Given the description of an element on the screen output the (x, y) to click on. 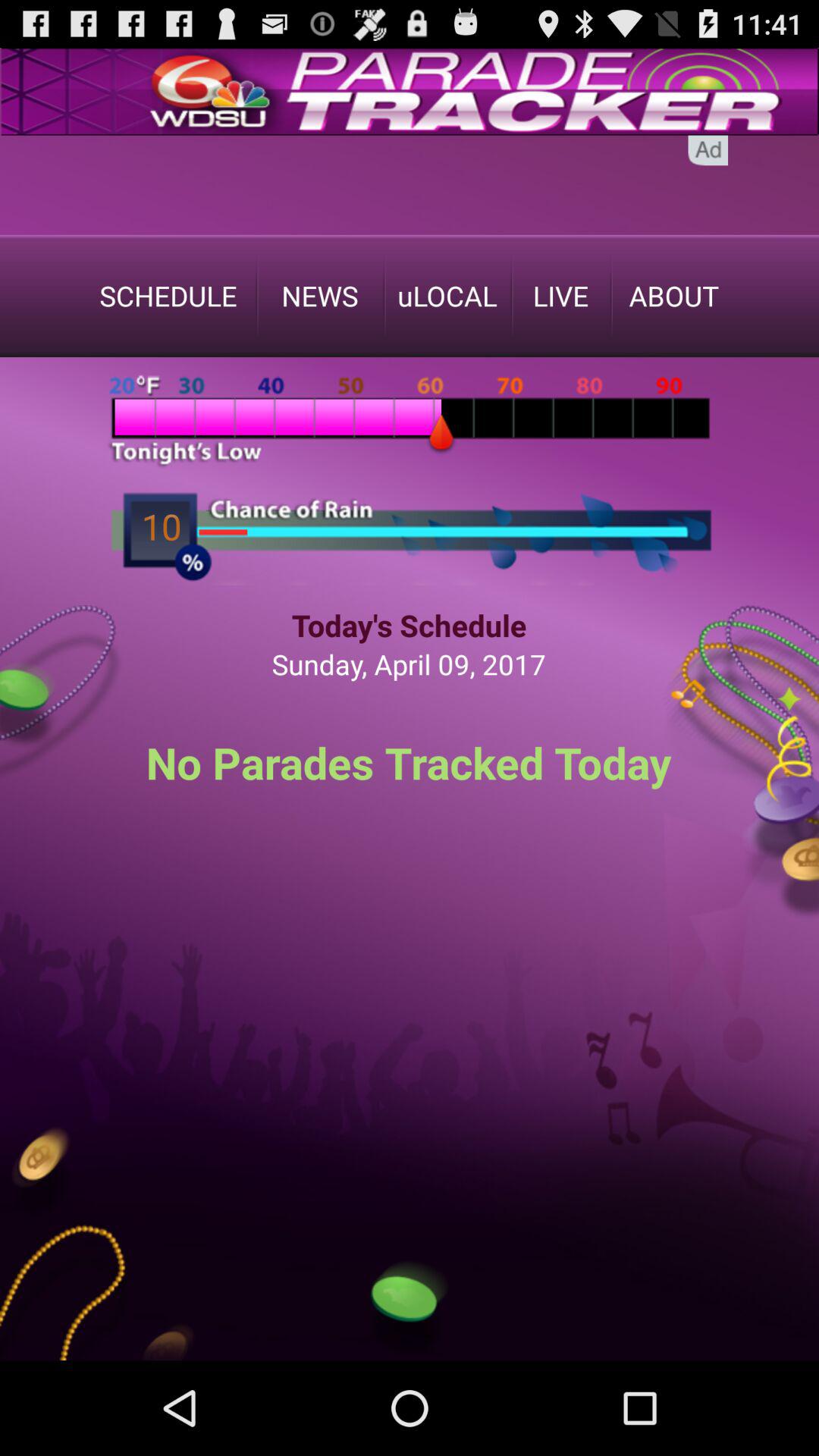
advertisement (409, 184)
